Given the description of an element on the screen output the (x, y) to click on. 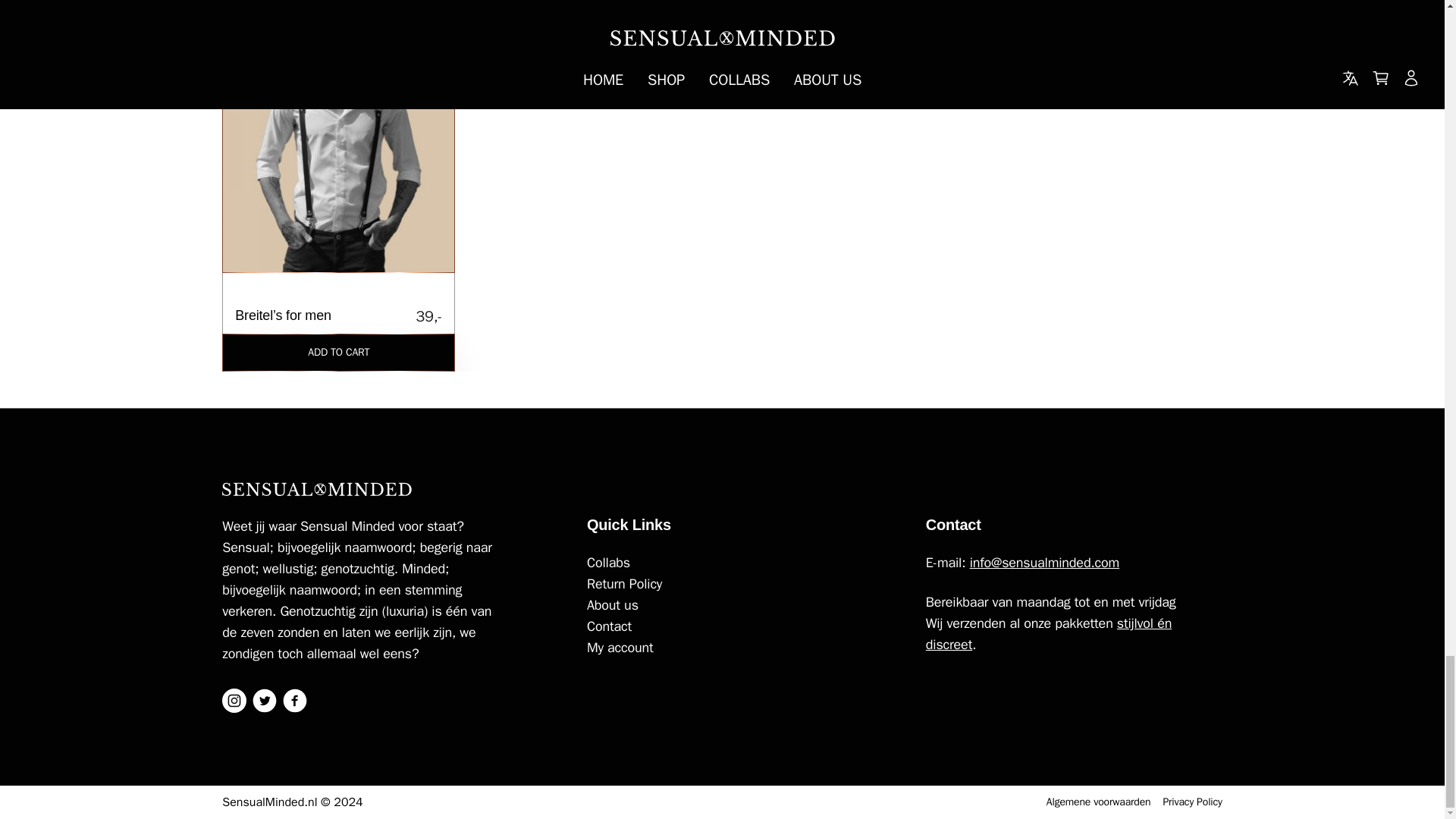
ADD TO CART (338, 21)
Sensual Minded (317, 489)
Contact (734, 626)
ADD TO CART (338, 352)
Collabs (734, 647)
Return Policy (734, 562)
About us (734, 583)
